Given the description of an element on the screen output the (x, y) to click on. 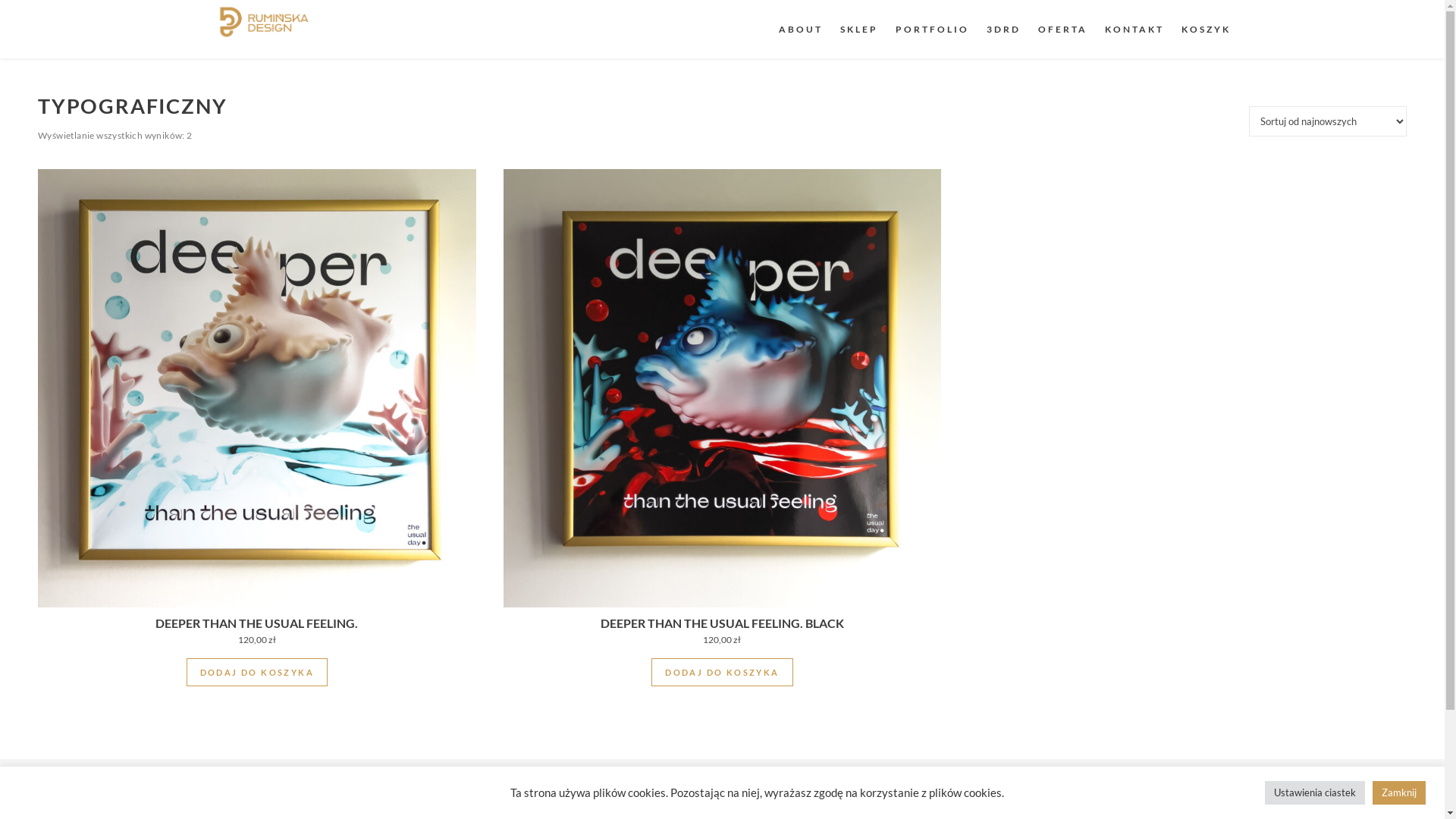
DODAJ DO KOSZYKA Element type: text (721, 672)
PORTFOLIO Element type: text (931, 29)
ABOUT Element type: text (803, 29)
3DRD Element type: text (1002, 29)
3DRD Element type: hover (261, 21)
DODAJ DO KOSZYKA Element type: text (256, 672)
KONTAKT Element type: text (1133, 29)
KOSZYK Element type: text (1201, 29)
OFERTA Element type: text (1061, 29)
Zamknij Element type: text (1398, 792)
SKLEP Element type: text (858, 29)
Ustawienia ciastek Element type: text (1314, 792)
